Given the description of an element on the screen output the (x, y) to click on. 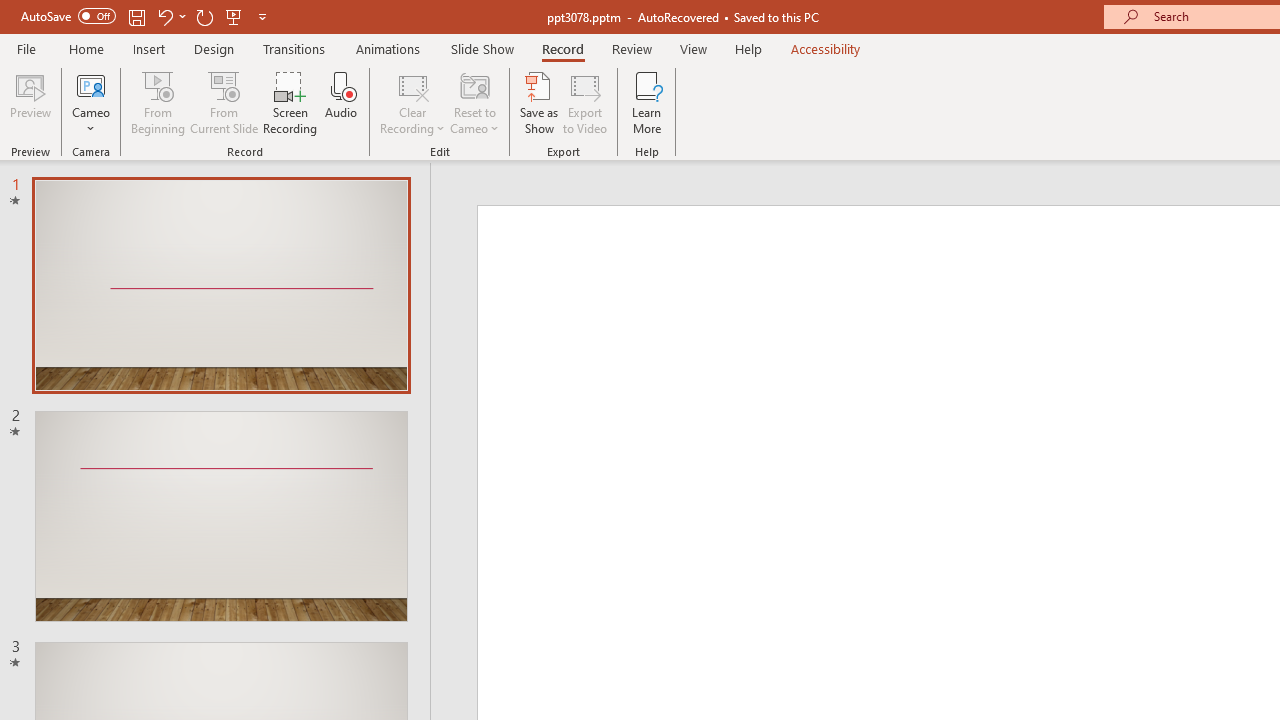
Cameo (91, 102)
Screen Recording (290, 102)
Export to Video (585, 102)
Preview (30, 102)
Accessibility (825, 48)
